Given the description of an element on the screen output the (x, y) to click on. 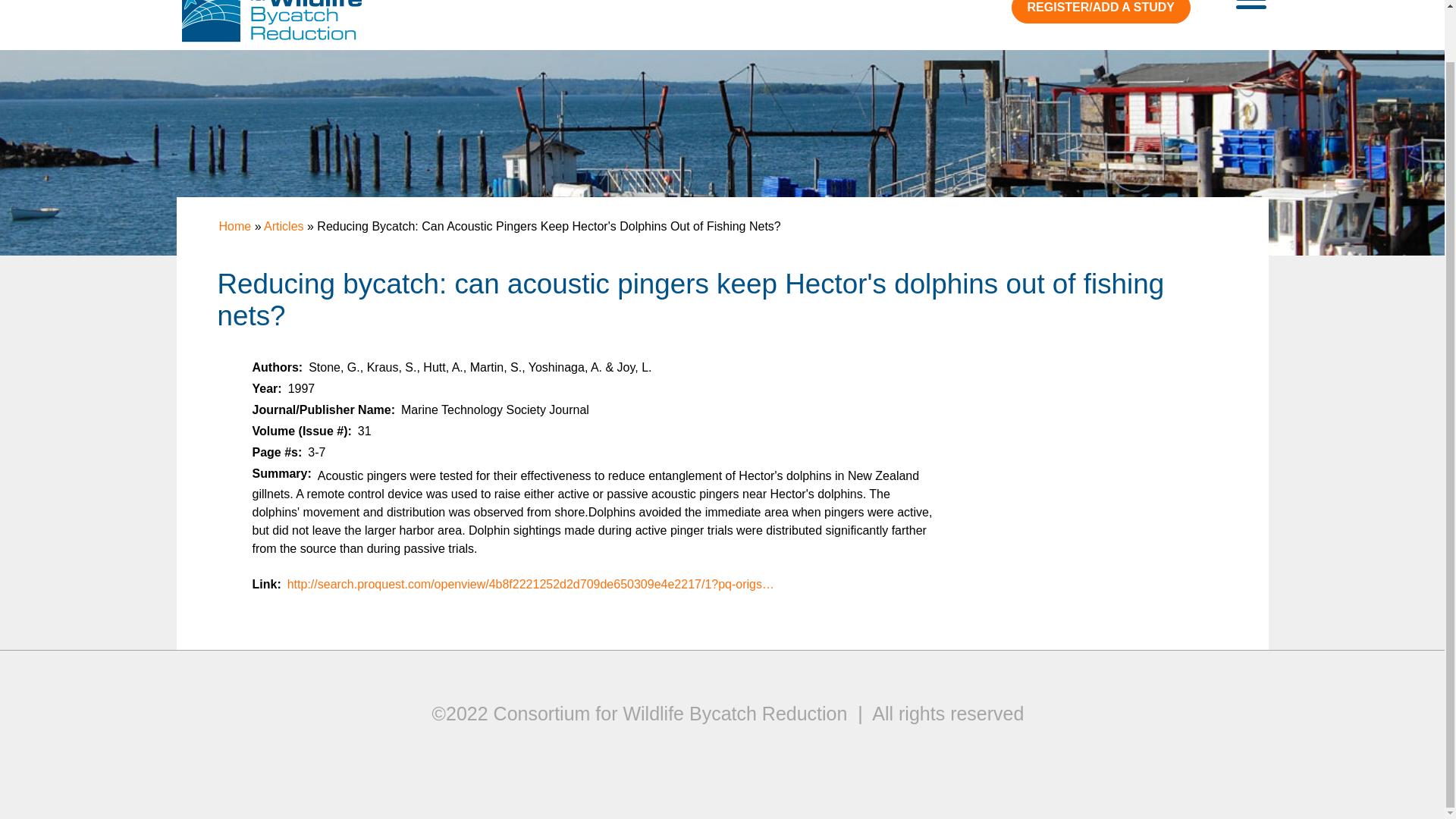
MENU (1251, 7)
Menu (1251, 7)
Instructions for Adding an Article Study (1101, 11)
